Given the description of an element on the screen output the (x, y) to click on. 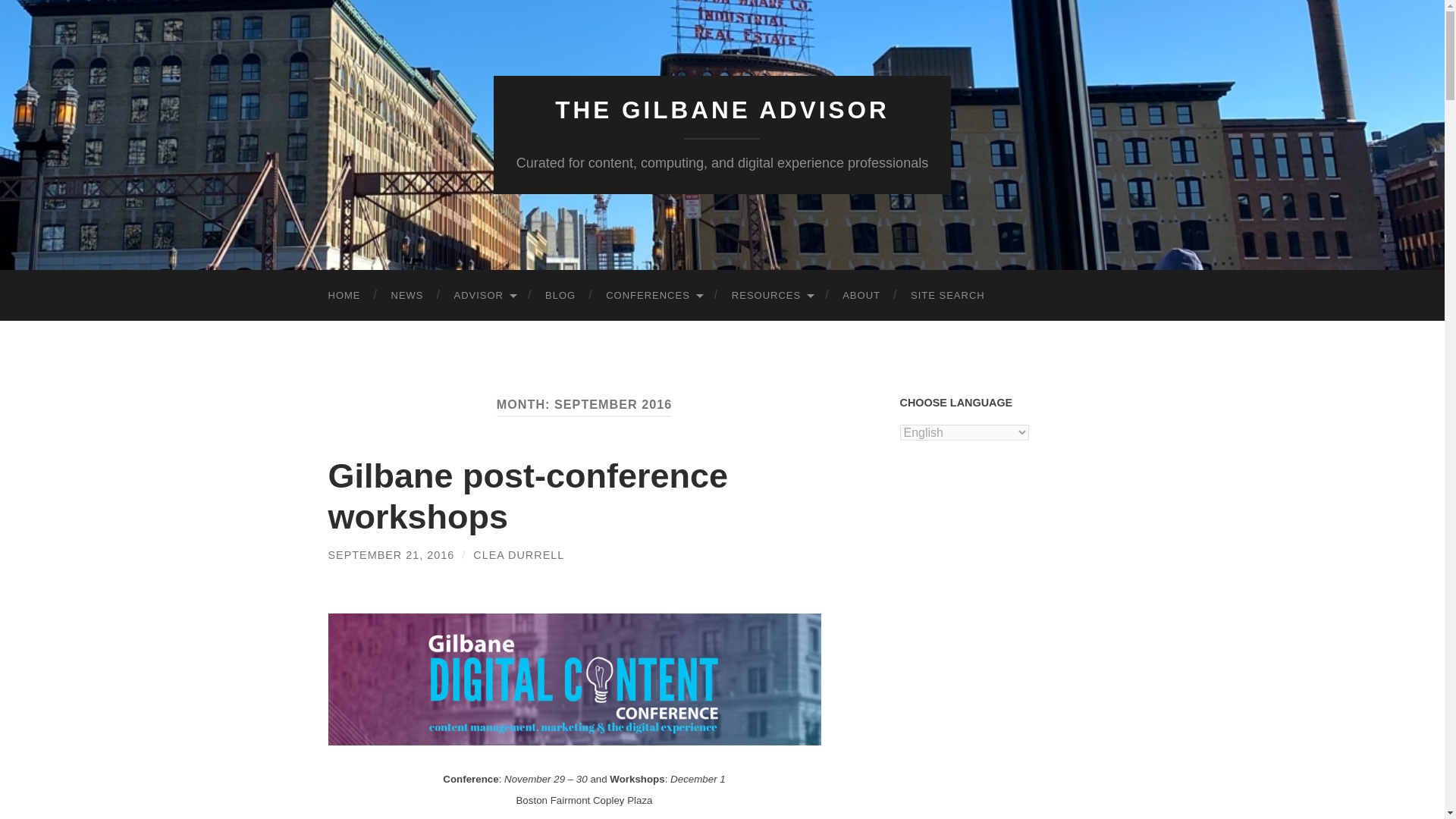
RESOURCES (771, 295)
THE GILBANE ADVISOR (721, 109)
SITE SEARCH (947, 295)
ABOUT (861, 295)
BLOG (560, 295)
HOME (344, 295)
CONFERENCES (653, 295)
Posts by Clea Durrell (518, 554)
NEWS (407, 295)
ADVISOR (483, 295)
